Given the description of an element on the screen output the (x, y) to click on. 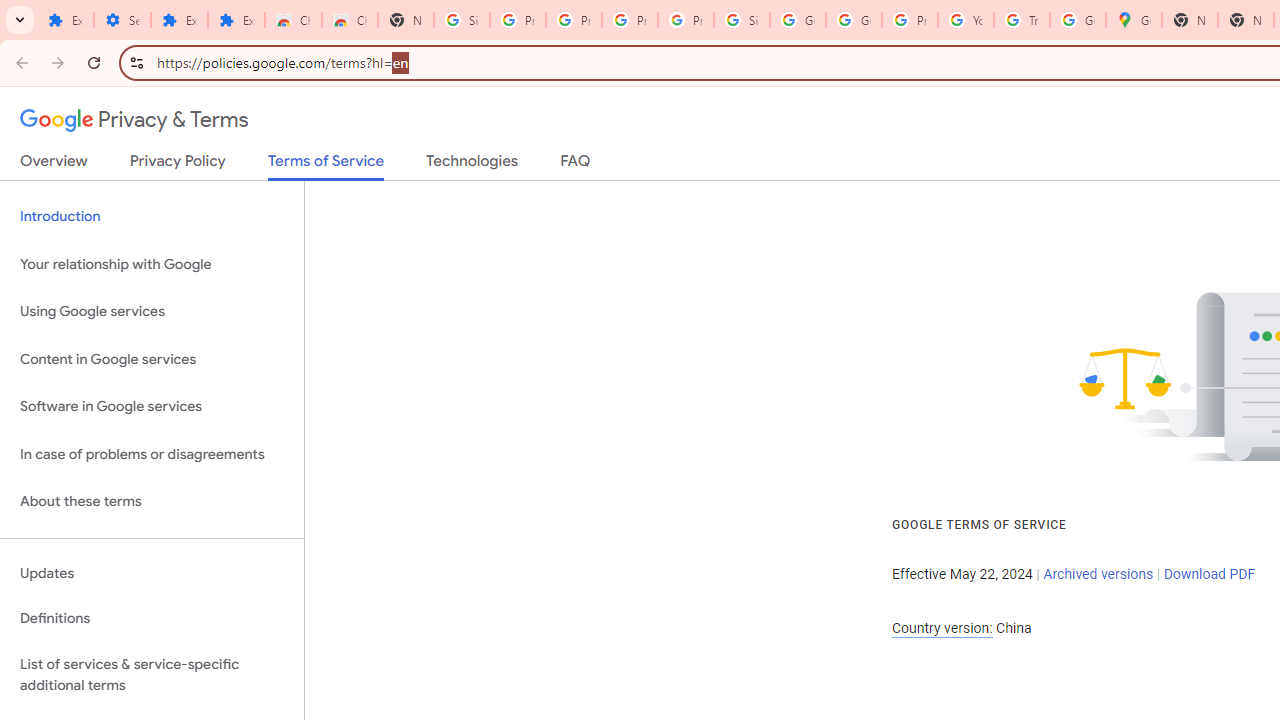
Content in Google services (152, 358)
Settings (122, 20)
Download PDF (1209, 574)
Sign in - Google Accounts (461, 20)
New Tab (405, 20)
New Tab (1190, 20)
Definitions (152, 619)
Software in Google services (152, 407)
